Given the description of an element on the screen output the (x, y) to click on. 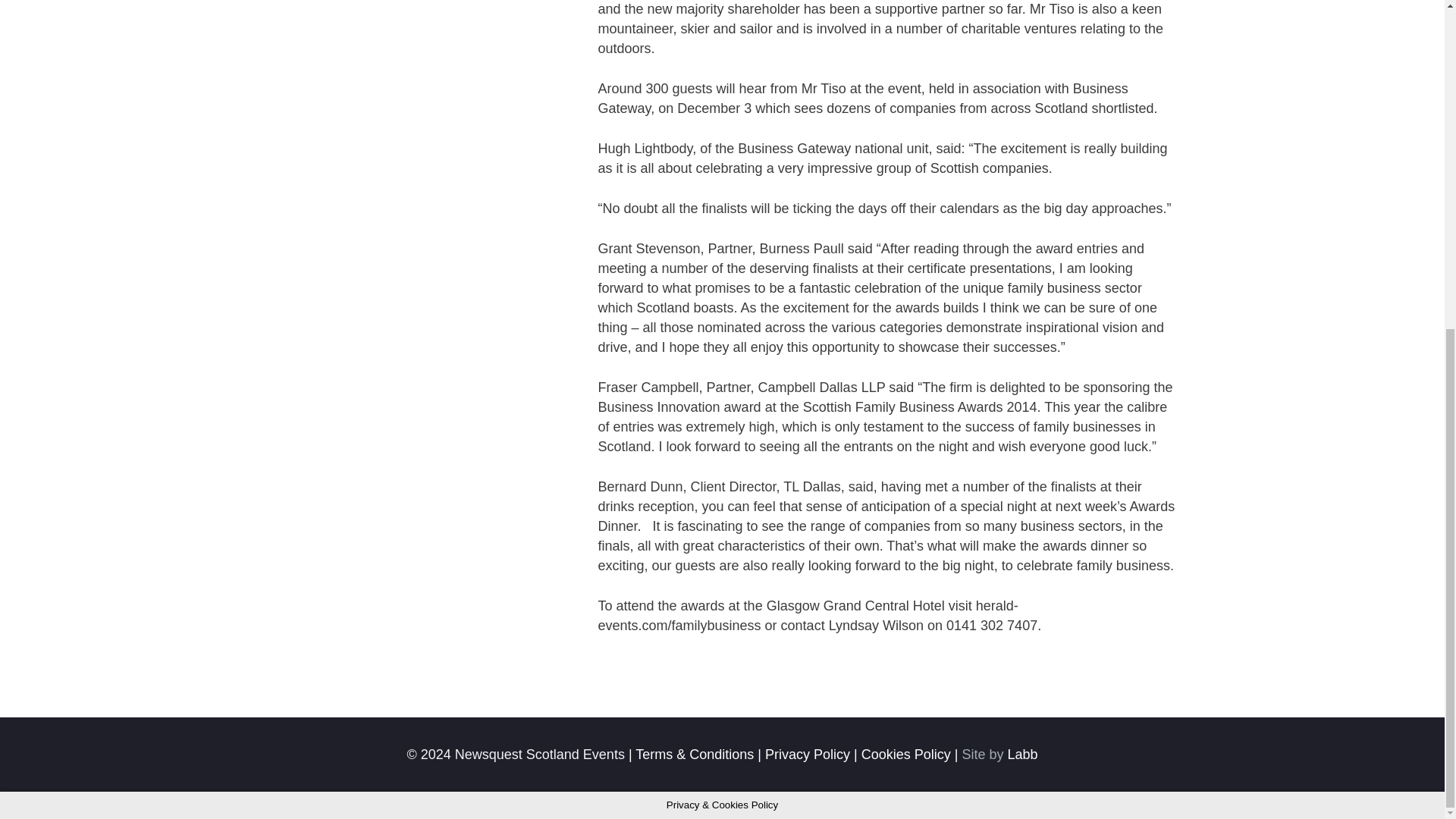
Labb (1021, 754)
Privacy Policy (807, 754)
Cookies Policy (905, 754)
